Given the description of an element on the screen output the (x, y) to click on. 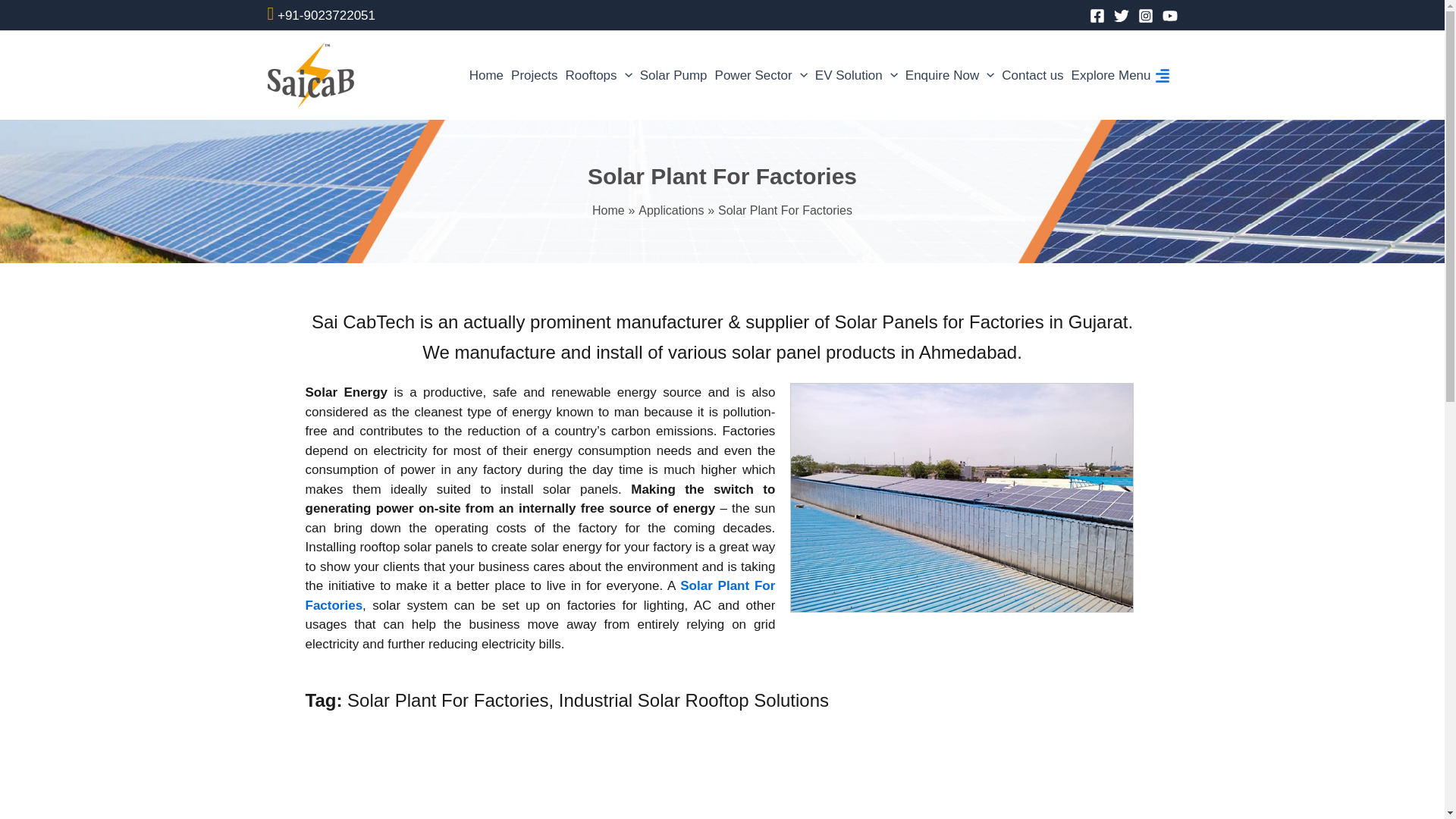
Power Sector (760, 75)
Rooftops (597, 75)
Solar Pump (673, 75)
Home (485, 75)
EV Solution (855, 75)
Projects (533, 75)
Enquire Now (949, 75)
